Given the description of an element on the screen output the (x, y) to click on. 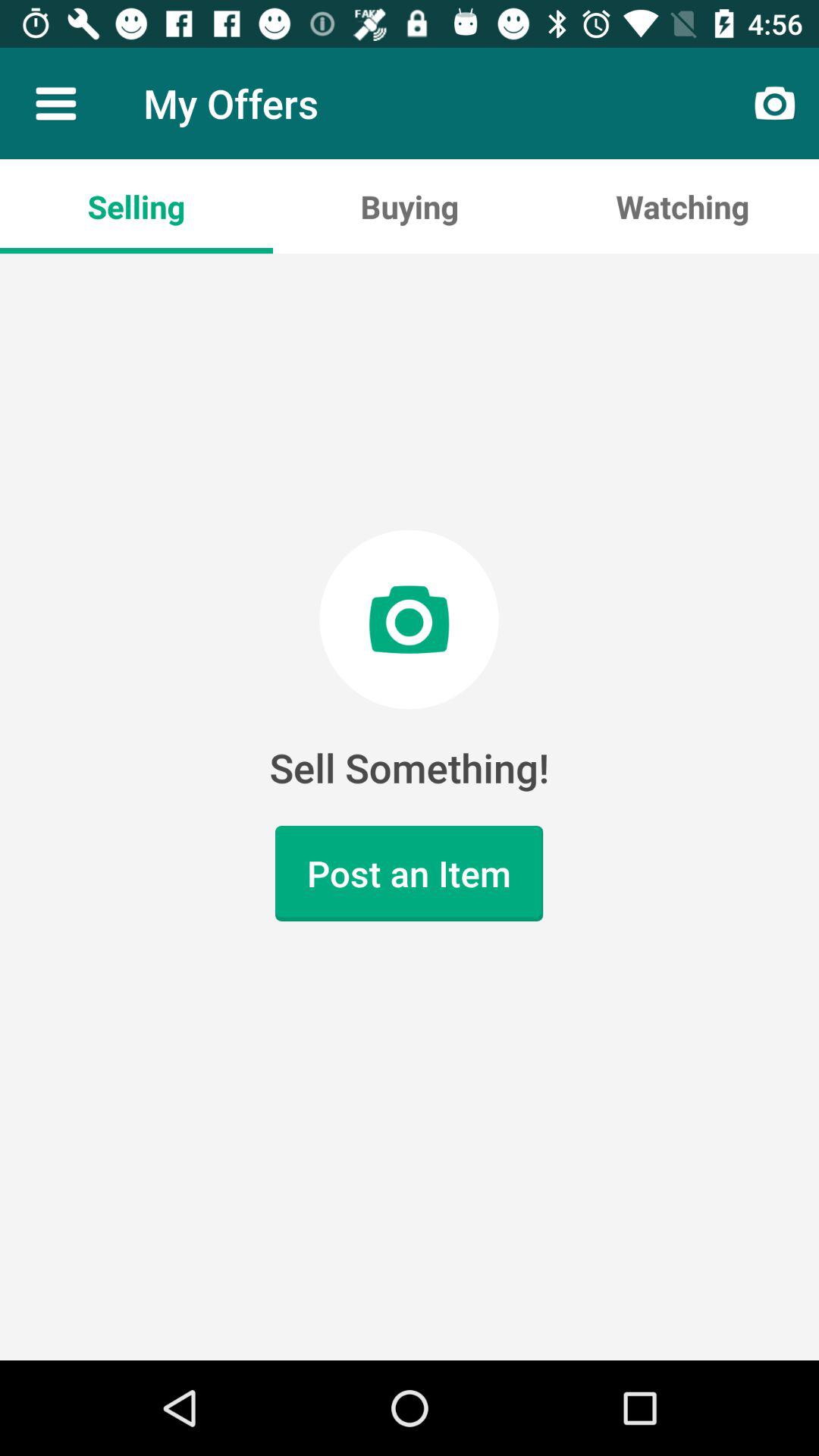
press watching app (682, 206)
